Given the description of an element on the screen output the (x, y) to click on. 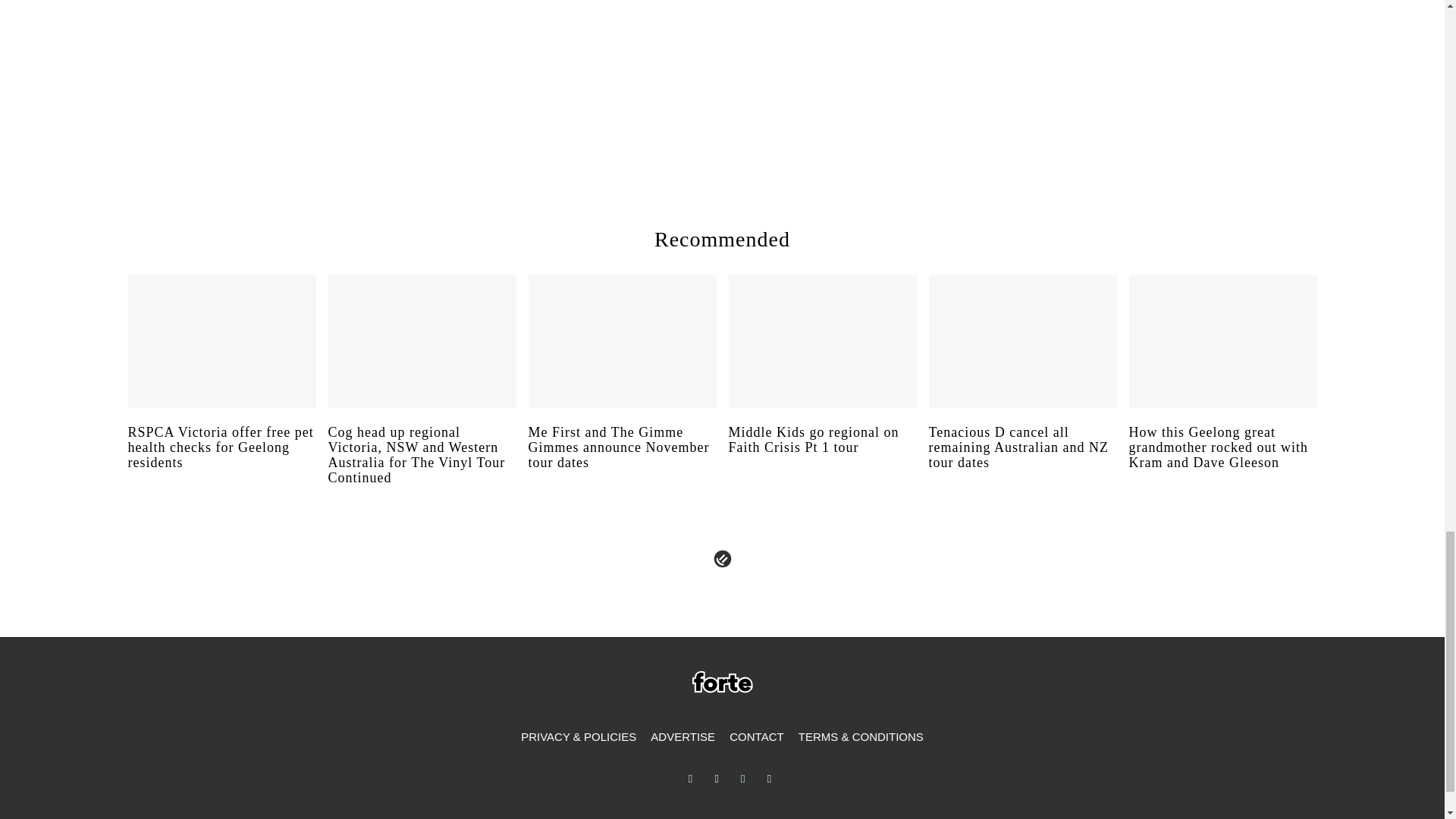
Middle Kids go regional on Faith Crisis Pt 1 tour (821, 454)
3rd party ad content (1082, 79)
Me First and The Gimme Gimmes announce November tour dates (621, 461)
